Given the description of an element on the screen output the (x, y) to click on. 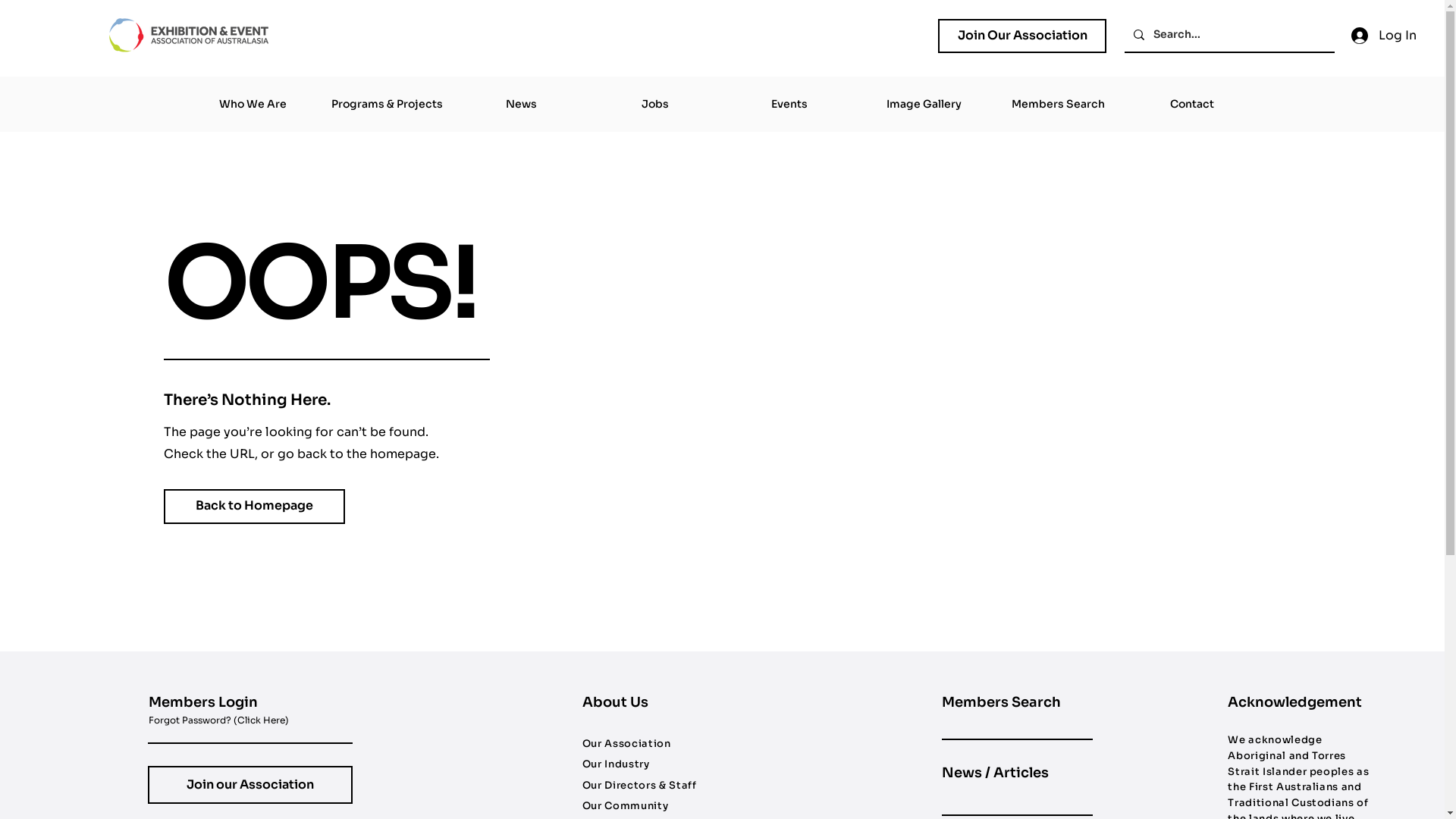
Join our Association Element type: text (249, 784)
Our Community Element type: text (625, 805)
Members Search Element type: text (1057, 104)
Our Association Element type: text (626, 743)
News Element type: text (520, 104)
Join Our Association Element type: text (1022, 35)
Events Element type: text (788, 104)
Back to Homepage Element type: text (254, 506)
Image Gallery Element type: text (923, 104)
News / Articles Element type: text (994, 772)
Log In Element type: text (1382, 35)
Our Industry Element type: text (615, 763)
Our Directors & Staff Element type: text (639, 784)
Contact Element type: text (1192, 104)
Members Search Element type: text (1000, 701)
